Given the description of an element on the screen output the (x, y) to click on. 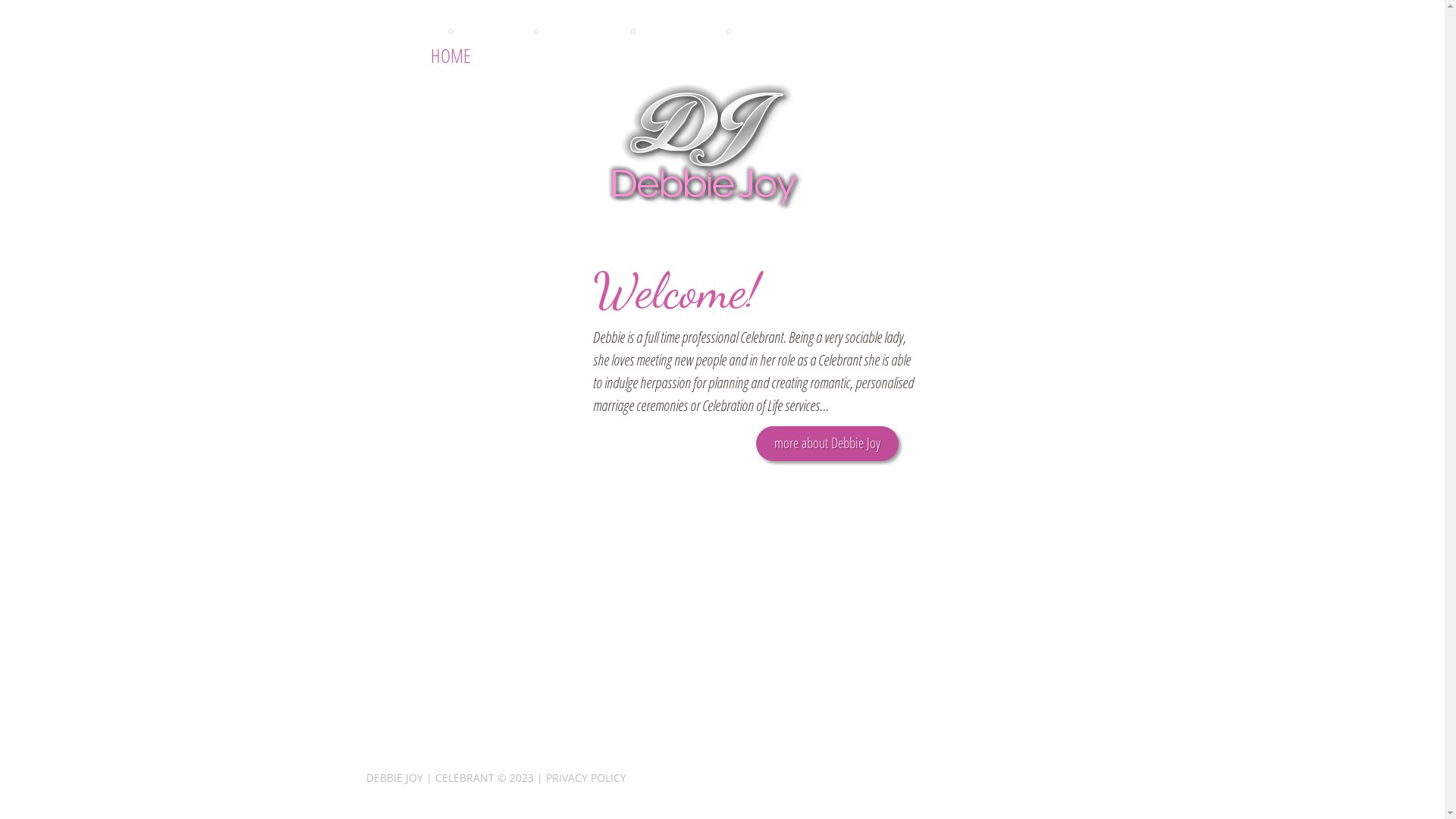
DEBBIE JOY | CELEBRANT Element type: text (429, 777)
FUNERALS Element type: text (632, 54)
HOME Element type: text (450, 54)
more about Debbie Joy Element type: text (826, 443)
ENQUIRIES Element type: text (728, 54)
Weddings, Funerals, Namings Element type: hover (706, 147)
PRIVACY POLICY Element type: text (586, 777)
WEDDINGS Element type: text (535, 54)
